Given the description of an element on the screen output the (x, y) to click on. 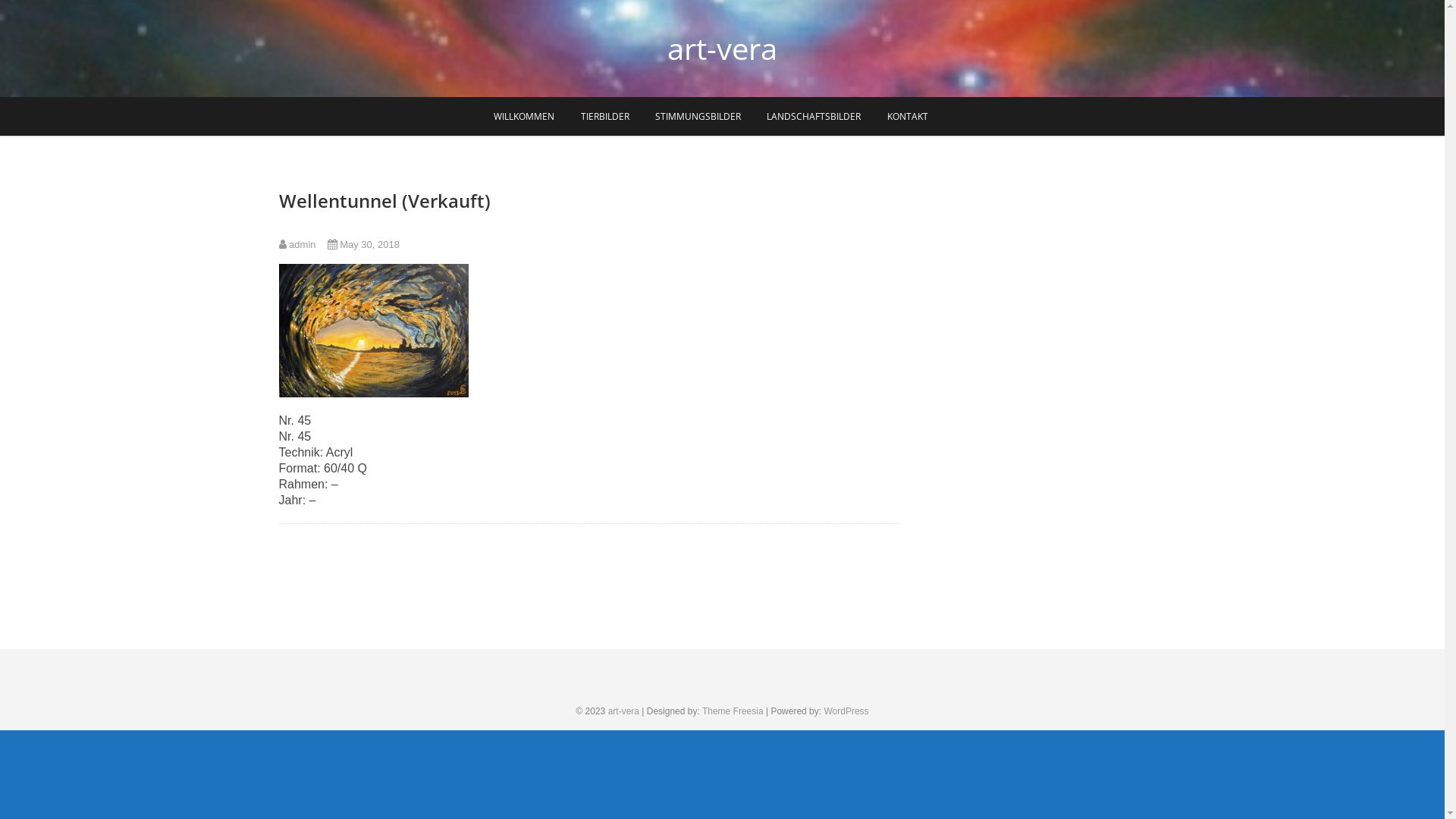
art-vera Element type: text (623, 711)
admin Element type: text (297, 244)
STIMMUNGSBILDER Element type: text (697, 116)
Theme Freesia Element type: text (732, 711)
WILLKOMMEN Element type: text (523, 116)
art-vera Element type: text (721, 48)
LANDSCHAFTSBILDER Element type: text (813, 116)
KONTAKT Element type: text (907, 116)
WordPress Element type: text (845, 711)
TIERBILDER Element type: text (604, 116)
May 30, 2018 Element type: text (363, 244)
